Given the description of an element on the screen output the (x, y) to click on. 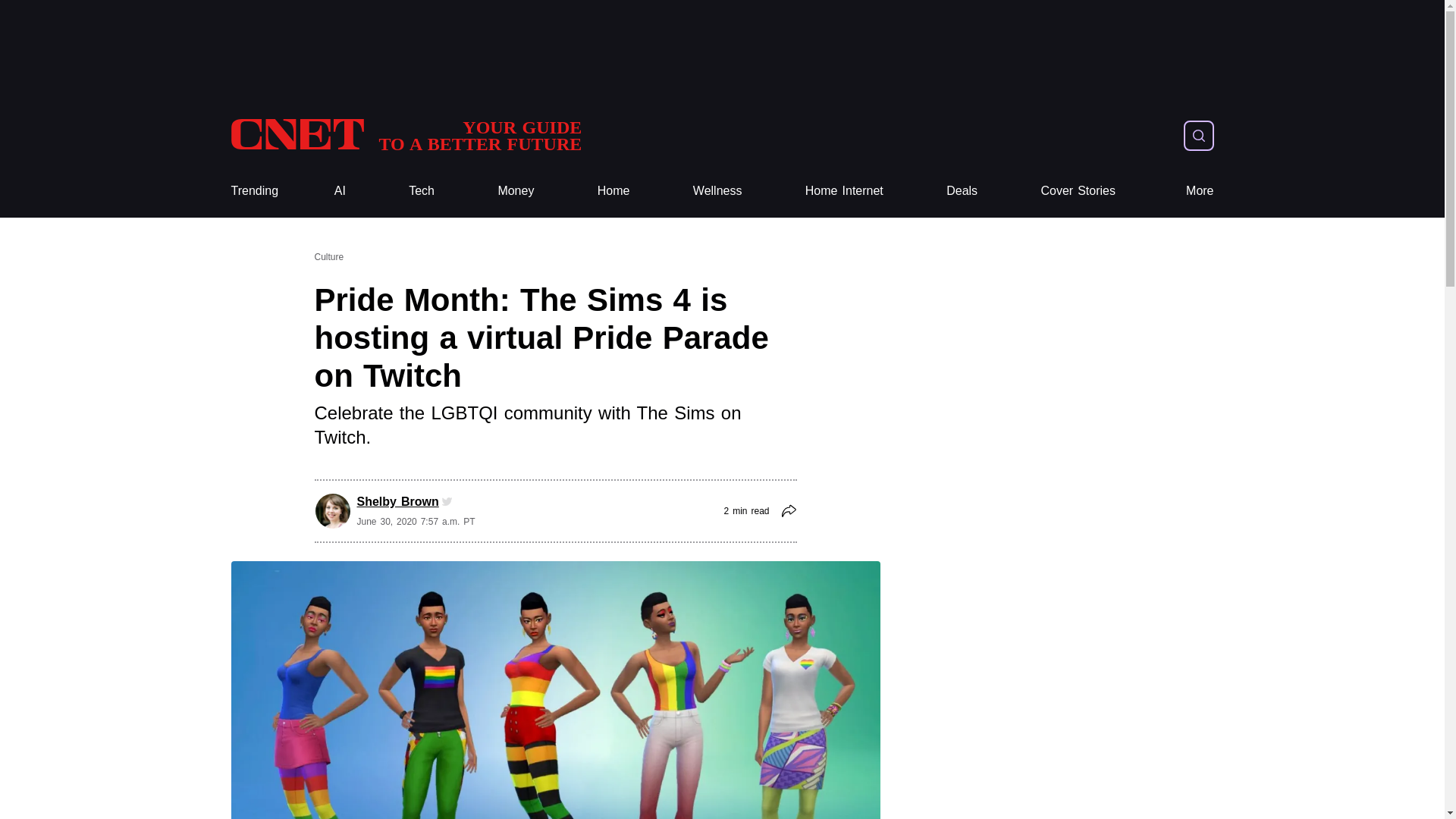
Tech (421, 190)
Home Internet (844, 190)
Wellness (717, 190)
CNET (405, 135)
Cover Stories (1078, 190)
Home (613, 190)
Wellness (405, 135)
Trending (717, 190)
Home (254, 190)
Deals (613, 190)
More (961, 190)
Tech (1199, 190)
Trending (421, 190)
Money (254, 190)
